Given the description of an element on the screen output the (x, y) to click on. 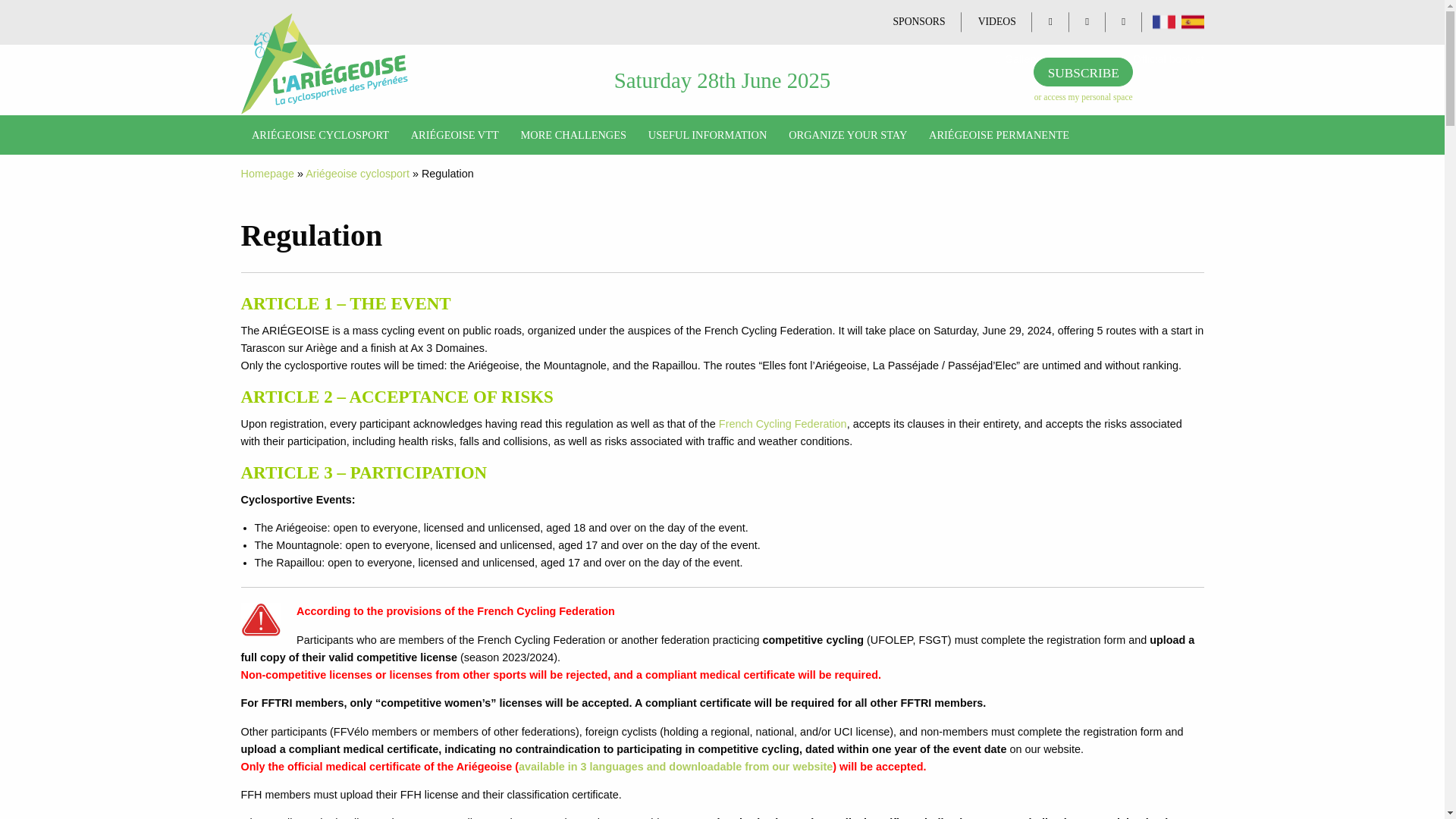
Videos (1081, 60)
Gallery (1017, 60)
Official booklet (1163, 60)
SUBSCRIBE (1082, 71)
VIDEOS (996, 22)
MORE CHALLENGES (574, 134)
SPONSORS (918, 22)
USEFUL INFORMATION (707, 134)
ORGANIZE YOUR STAY (848, 134)
or access my personal space (1082, 96)
